Given the description of an element on the screen output the (x, y) to click on. 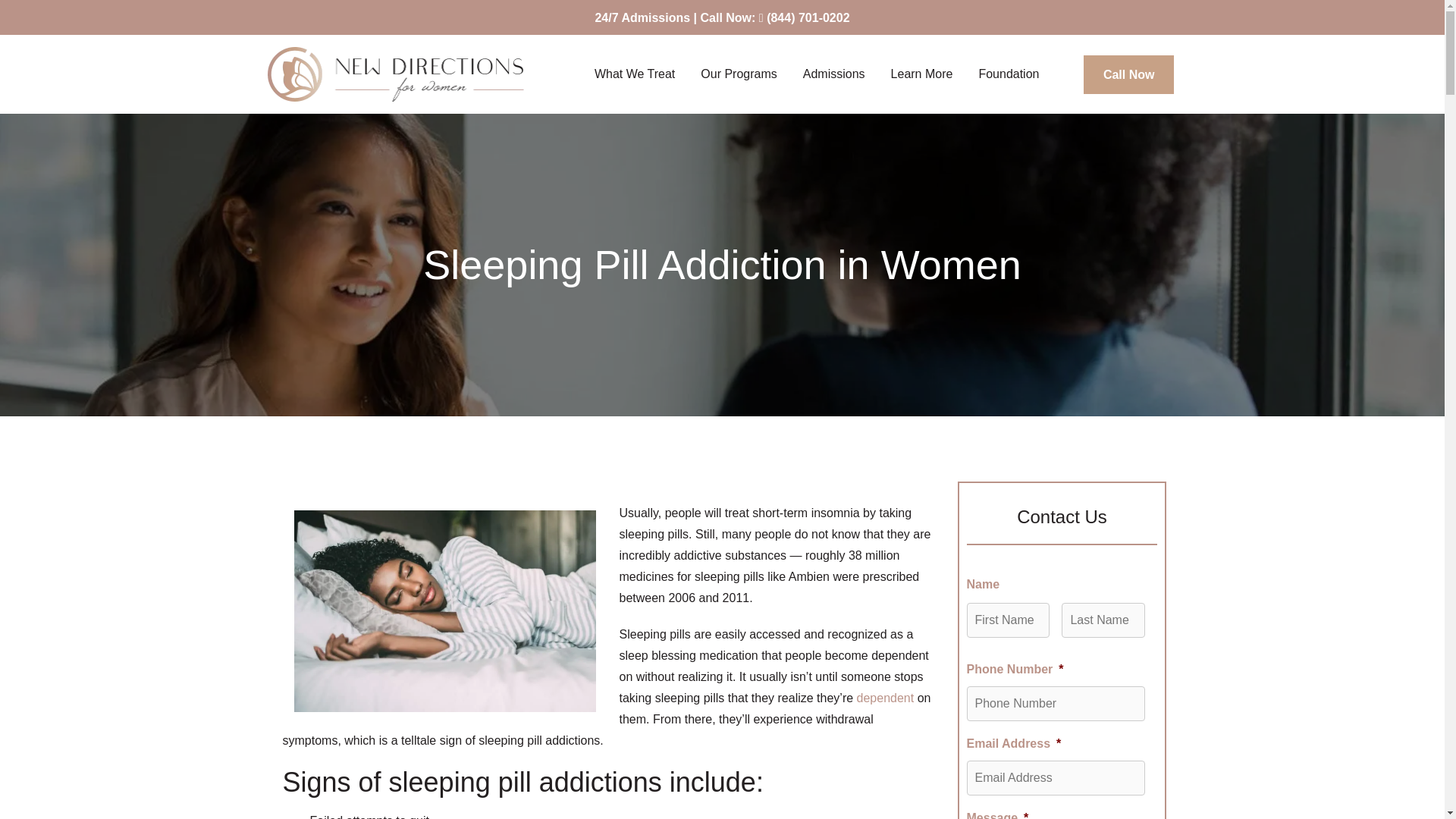
What We Treat (638, 73)
Learn More (925, 73)
Foundation (1012, 73)
Admissions (837, 73)
Our Programs (742, 73)
